Given the description of an element on the screen output the (x, y) to click on. 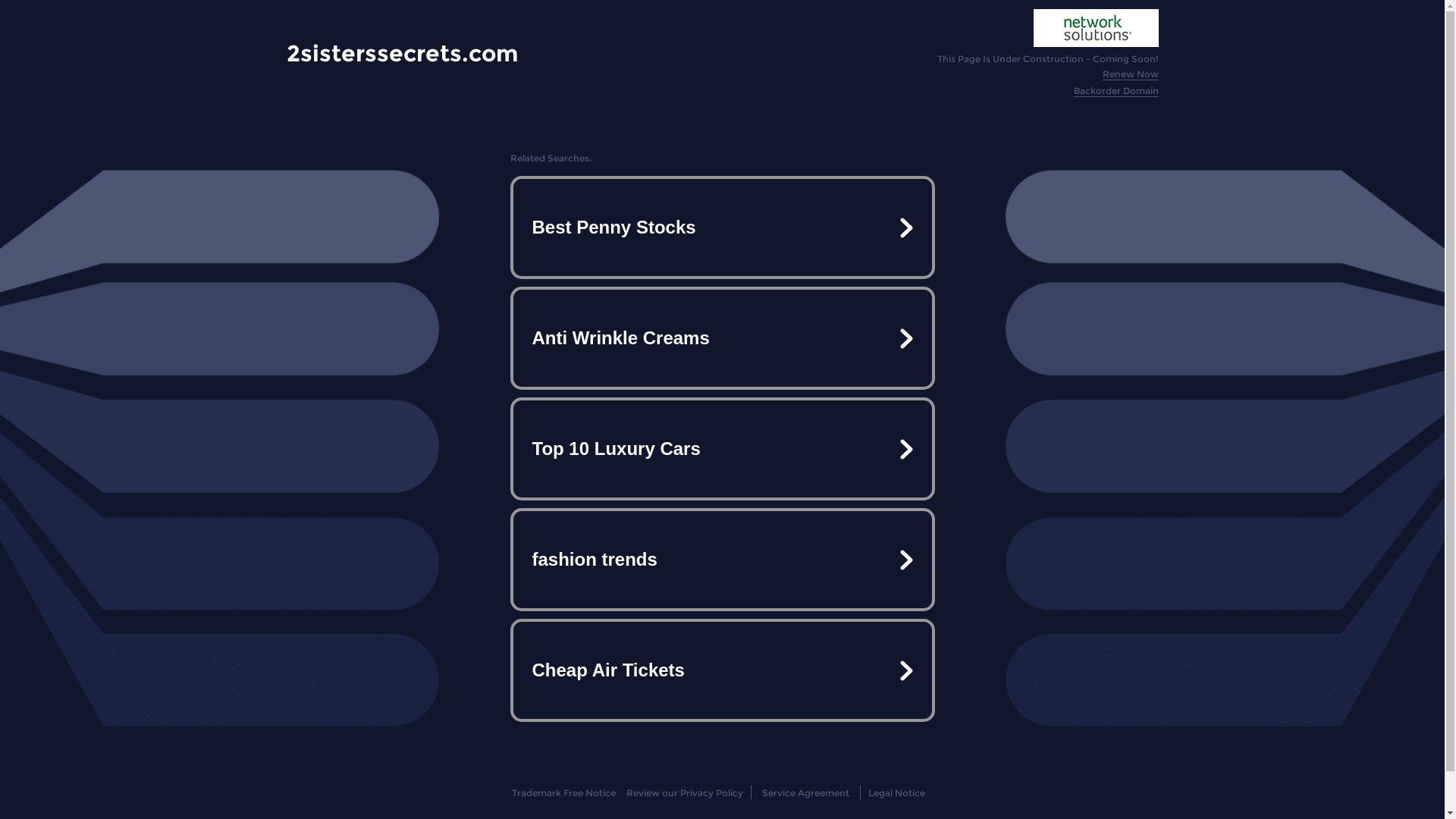
Cheap Air Tickets Element type: text (721, 669)
Trademark Free Notice Element type: text (563, 792)
Legal Notice Element type: text (896, 792)
fashion trends Element type: text (721, 559)
Best Penny Stocks Element type: text (721, 227)
Review our Privacy Policy Element type: text (684, 792)
2sisterssecrets.com Element type: text (401, 53)
Top 10 Luxury Cars Element type: text (721, 448)
Anti Wrinkle Creams Element type: text (721, 337)
Renew Now Element type: text (1130, 74)
Service Agreement Element type: text (805, 792)
Backorder Domain Element type: text (1115, 90)
